Given the description of an element on the screen output the (x, y) to click on. 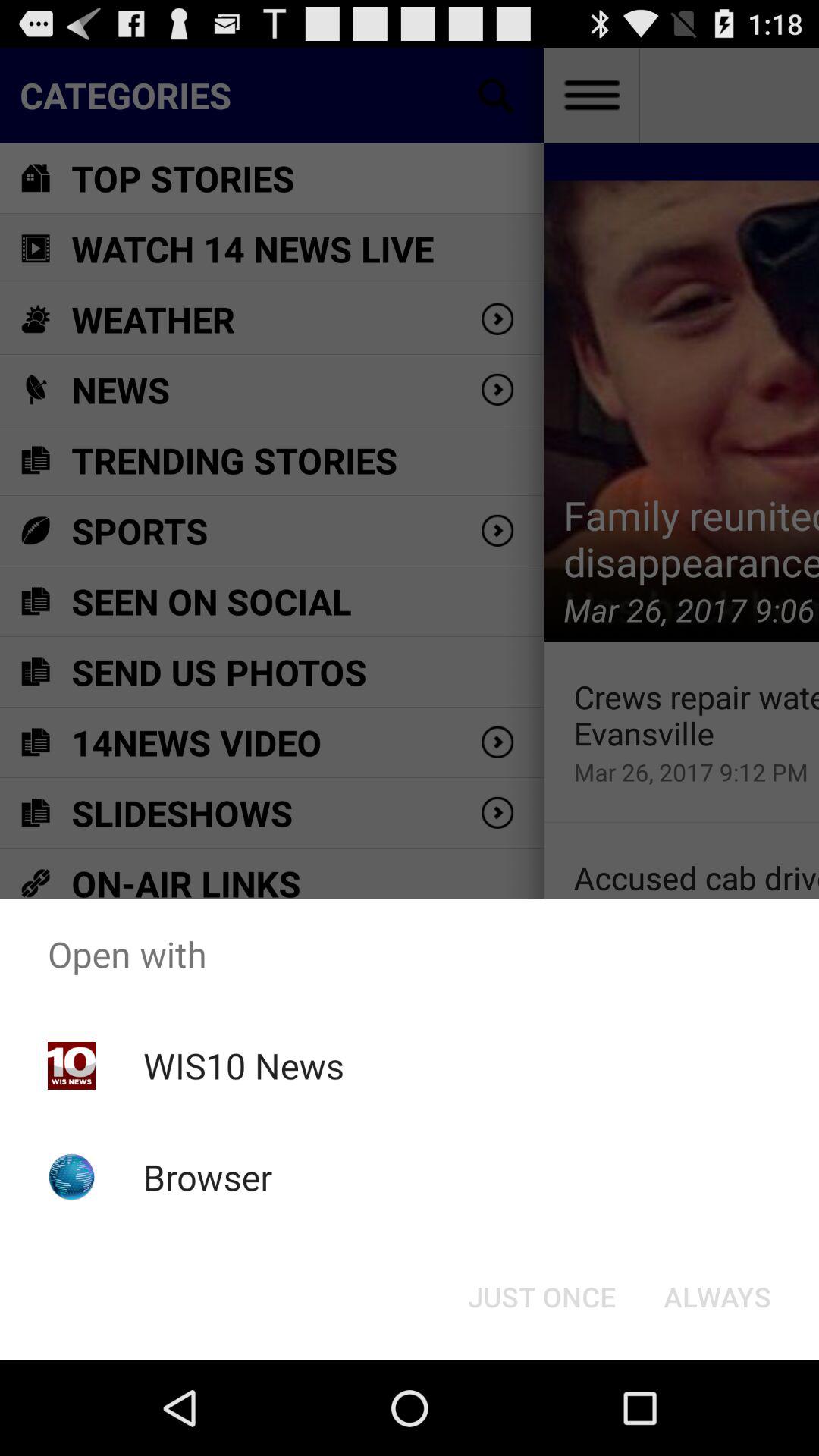
select icon at the bottom right corner (717, 1296)
